Given the description of an element on the screen output the (x, y) to click on. 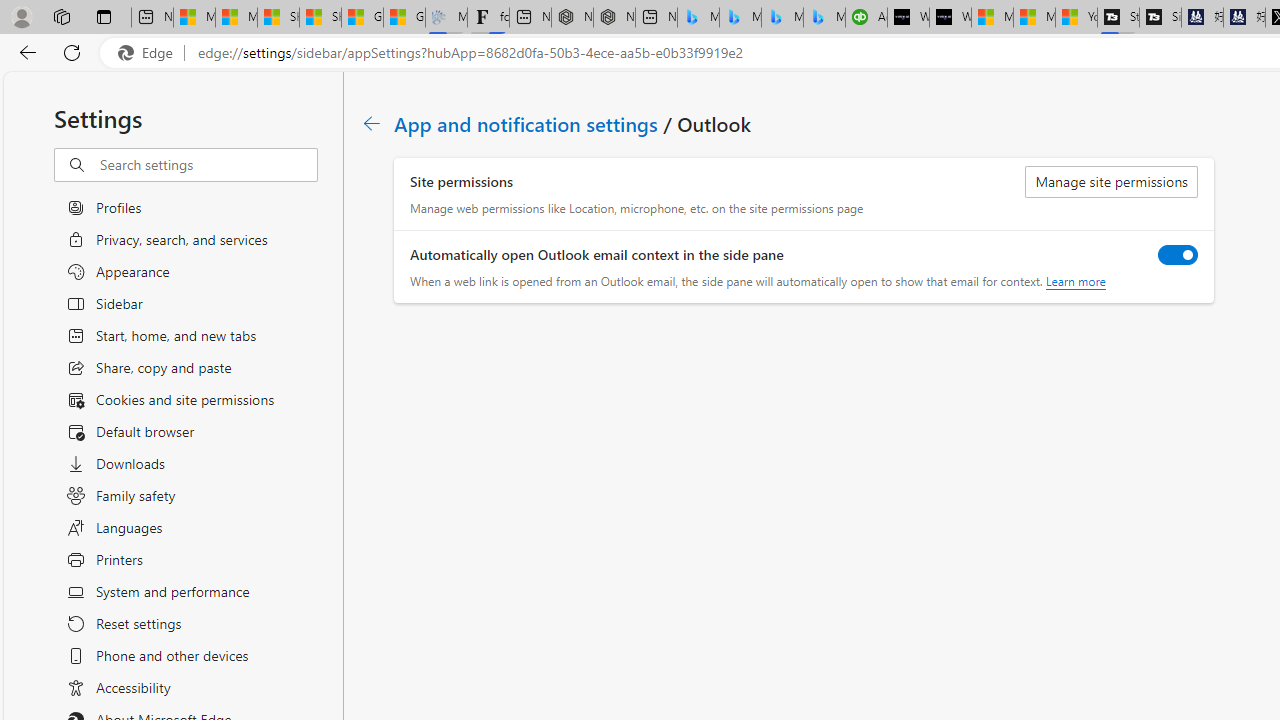
Go back to App and notification settings page. (372, 123)
Learn more (1074, 281)
Manage site permissions (1111, 182)
Automatically open Outlook email context in the side pane (1178, 254)
Streaming Coverage | T3 (1118, 17)
Class: c01188 (371, 123)
Microsoft Bing Travel - Shangri-La Hotel Bangkok (823, 17)
Gilma and Hector both pose tropical trouble for Hawaii (404, 17)
Accounting Software for Accountants, CPAs and Bookkeepers (866, 17)
